Given the description of an element on the screen output the (x, y) to click on. 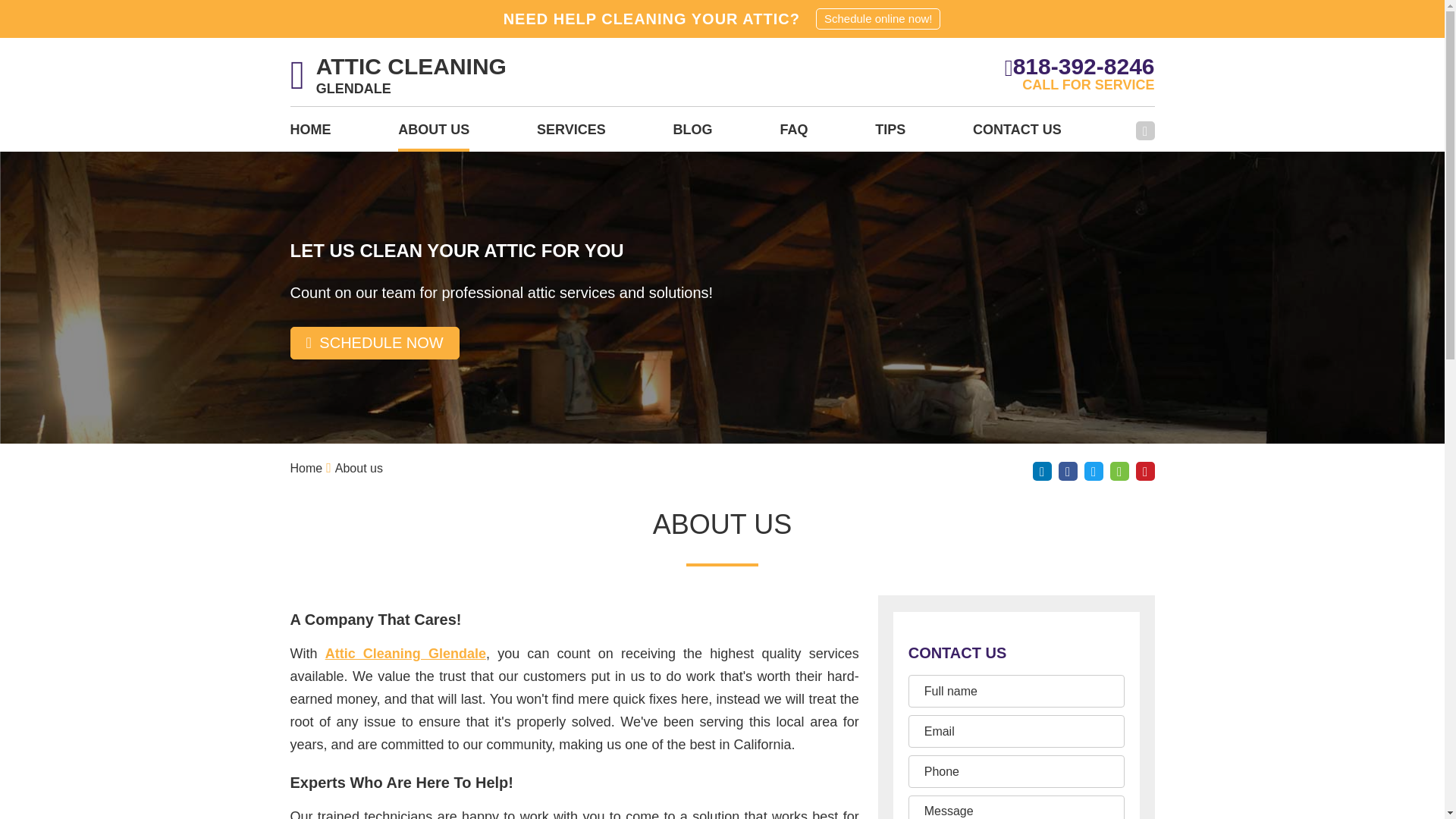
Click here to enter Home page (305, 468)
Schedule online now! (877, 18)
Attic Cleaning Glendale (405, 653)
Attic Cleaning Glendale (405, 653)
ABOUT US (432, 134)
SERVICES (571, 134)
Houzz (1119, 470)
Facebook (1144, 130)
BLOG (692, 134)
TIPS (890, 134)
